Given the description of an element on the screen output the (x, y) to click on. 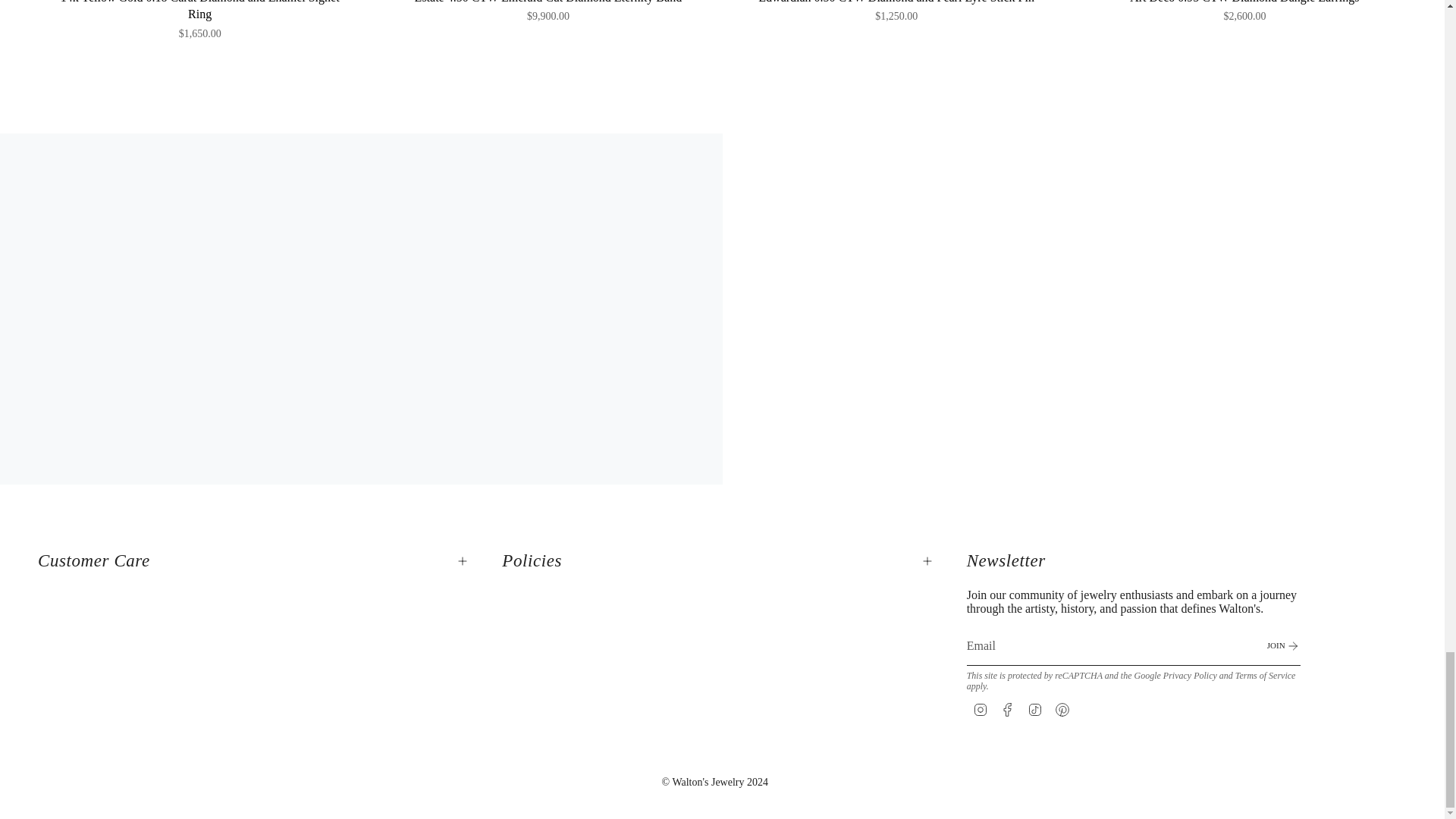
Walton's Jewelry on Facebook (1007, 707)
Walton's Jewelry on TikTok (1034, 707)
Walton's Jewelry on Pinterest (1062, 707)
Walton's Jewelry on Instagram (980, 707)
